Given the description of an element on the screen output the (x, y) to click on. 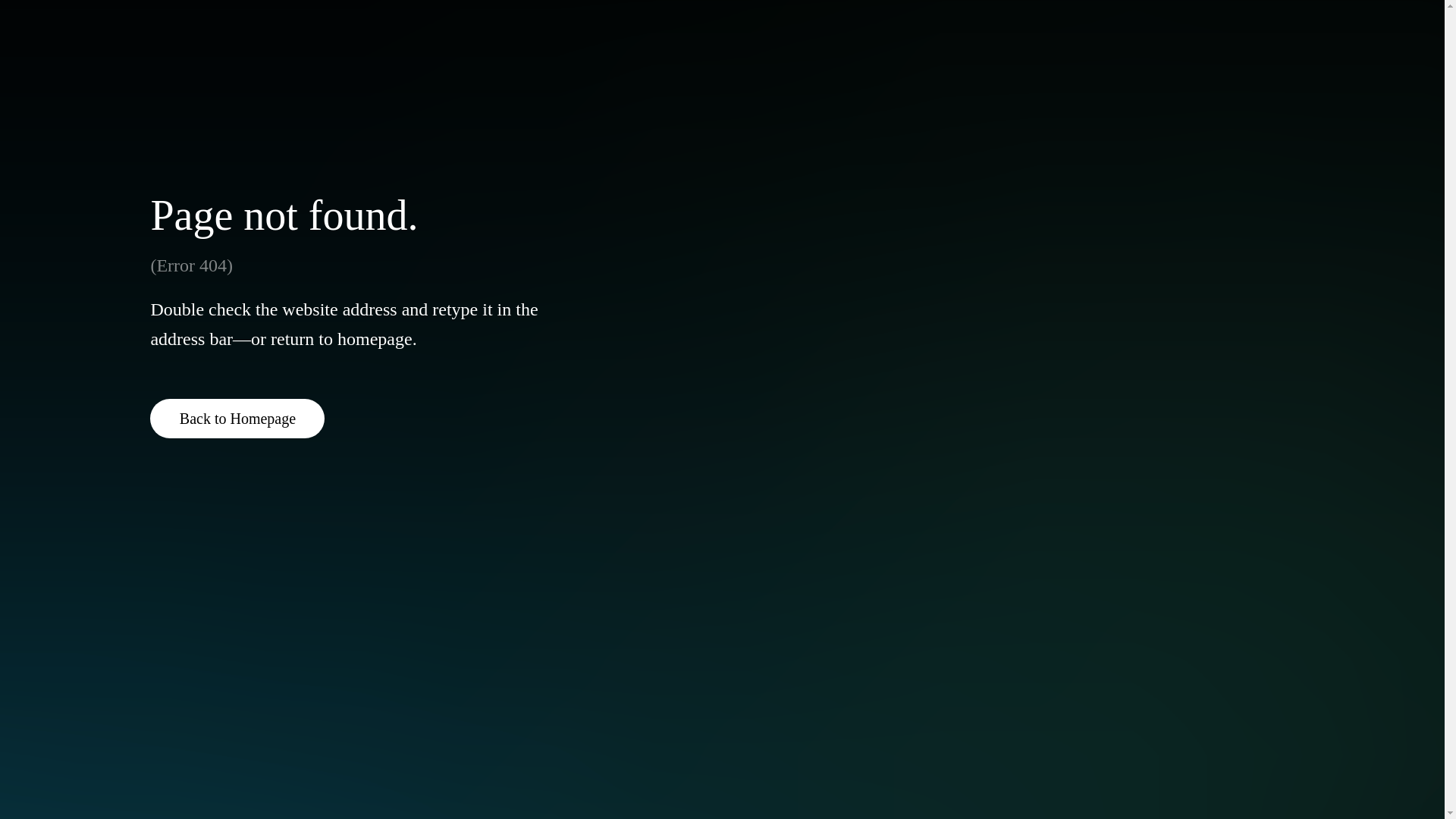
Back to Homepage (236, 418)
